Given the description of an element on the screen output the (x, y) to click on. 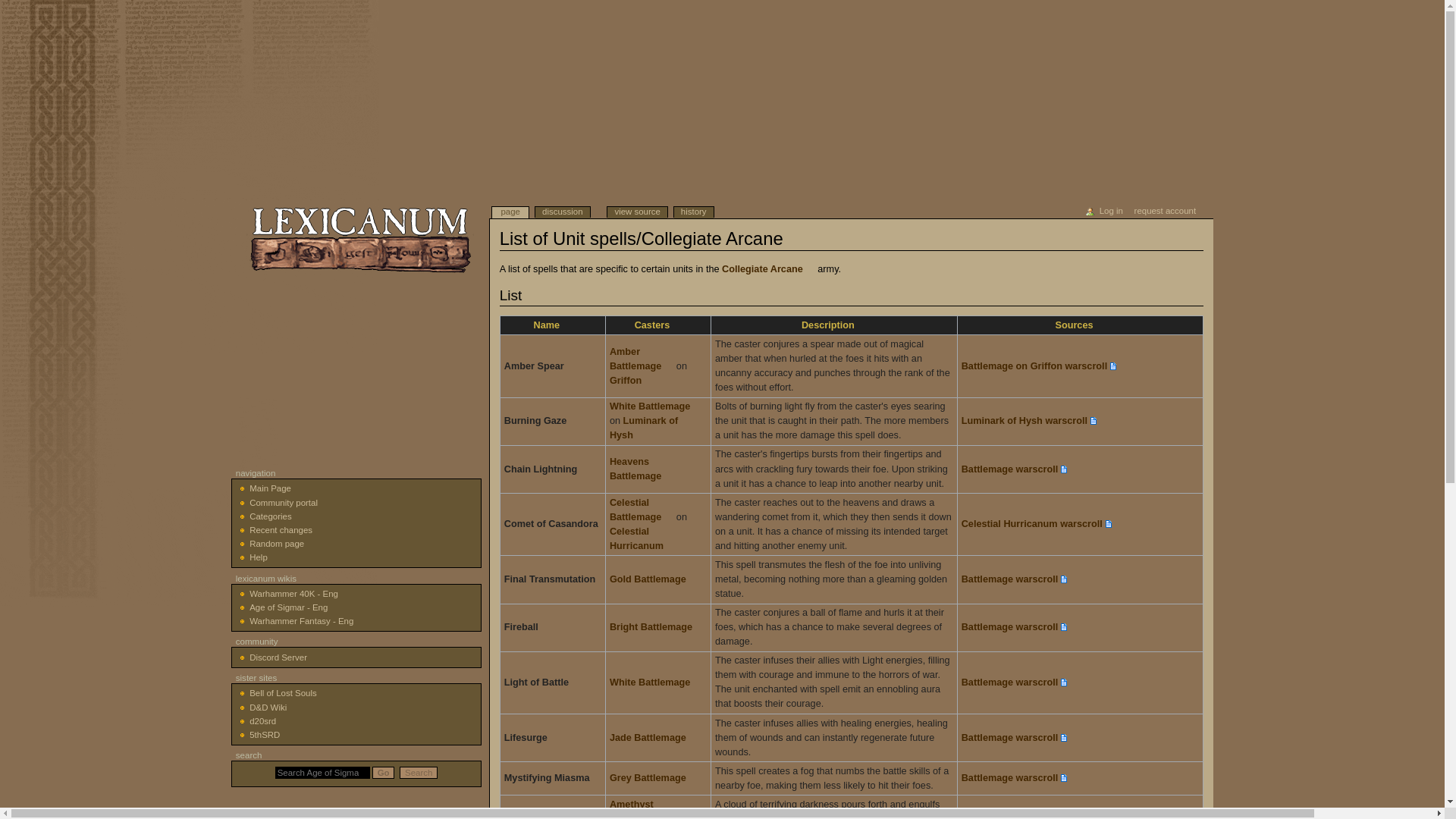
Bright Battlemage (657, 626)
Heavens Battlemage (641, 468)
Bright Battlemage (657, 626)
Amber Battlemage (641, 358)
Heavens Battlemage (641, 468)
Go (383, 772)
Collegiate Arcane (768, 268)
White Battlemage (655, 406)
Gold Battlemage (654, 579)
Search (418, 772)
Search (418, 772)
Griffon (631, 380)
Sort ascending (657, 325)
Grey Battlemage (654, 777)
Jade Battlemage (654, 737)
